Given the description of an element on the screen output the (x, y) to click on. 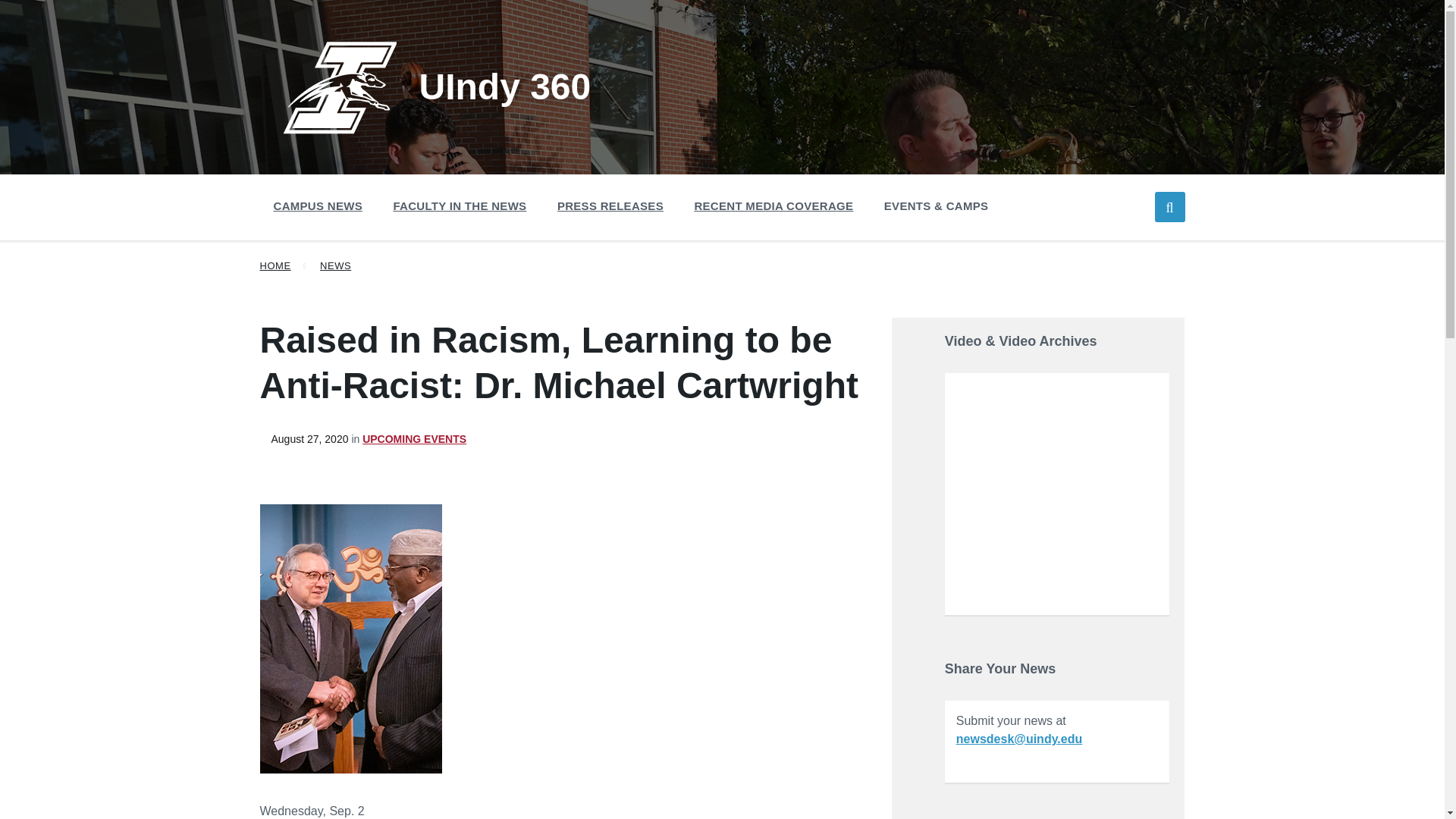
RECENT MEDIA COVERAGE (772, 205)
UIndy 360 (436, 87)
Category (407, 439)
FACULTY IN THE NEWS (459, 205)
YouTube video player (1057, 492)
Expand search (1169, 206)
CAMPUS NEWS (317, 205)
PRESS RELEASES (609, 205)
